Given the description of an element on the screen output the (x, y) to click on. 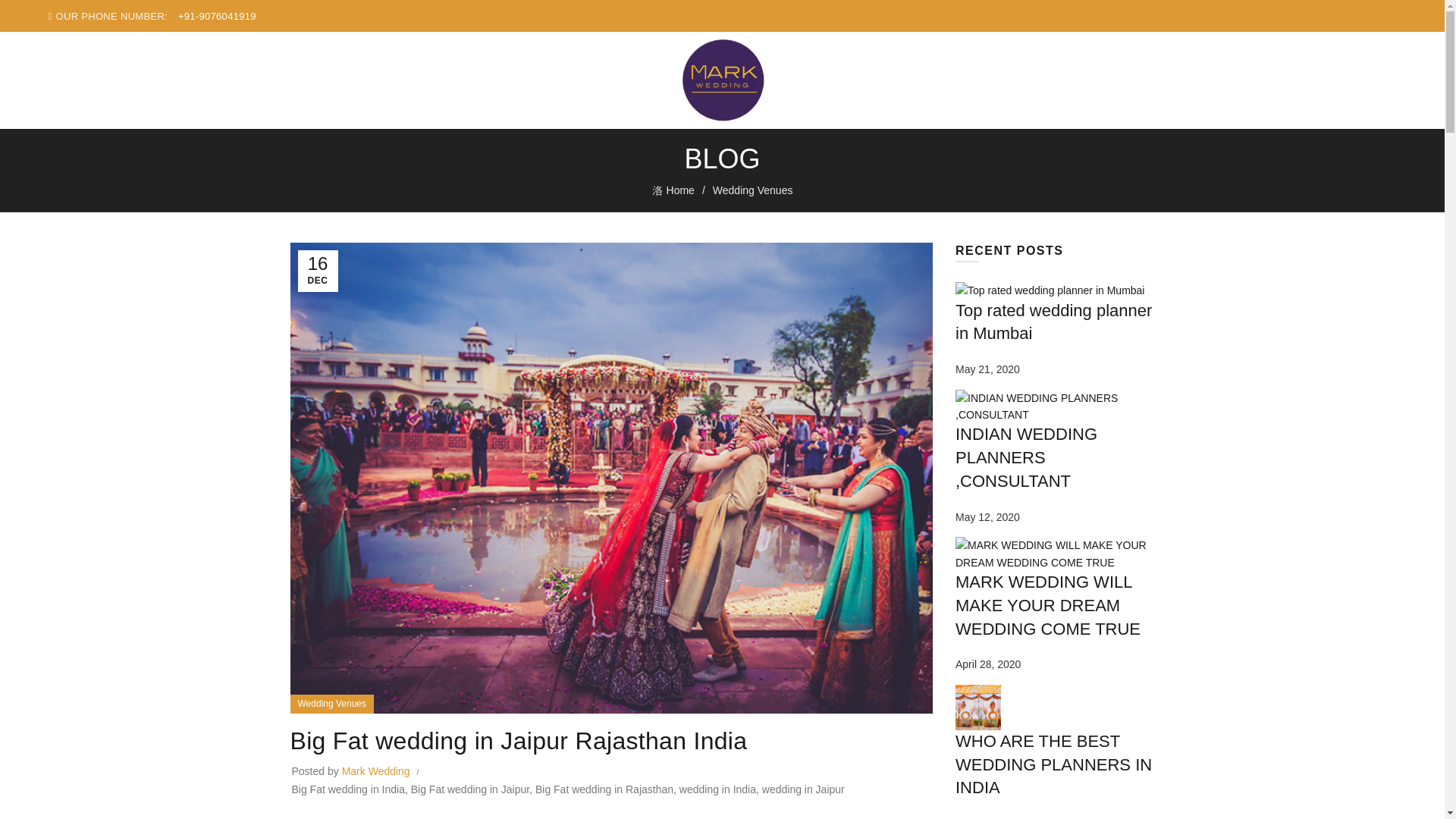
Big Fat wedding in Jaipur (469, 788)
Big Fat wedding in Rajasthan (603, 788)
Wedding Venues (753, 190)
Mark Wedding (377, 770)
wedding in India (717, 788)
Home (682, 190)
Wedding Venues (331, 703)
Big Fat wedding in India (347, 788)
wedding in Jaipur (802, 788)
